Given the description of an element on the screen output the (x, y) to click on. 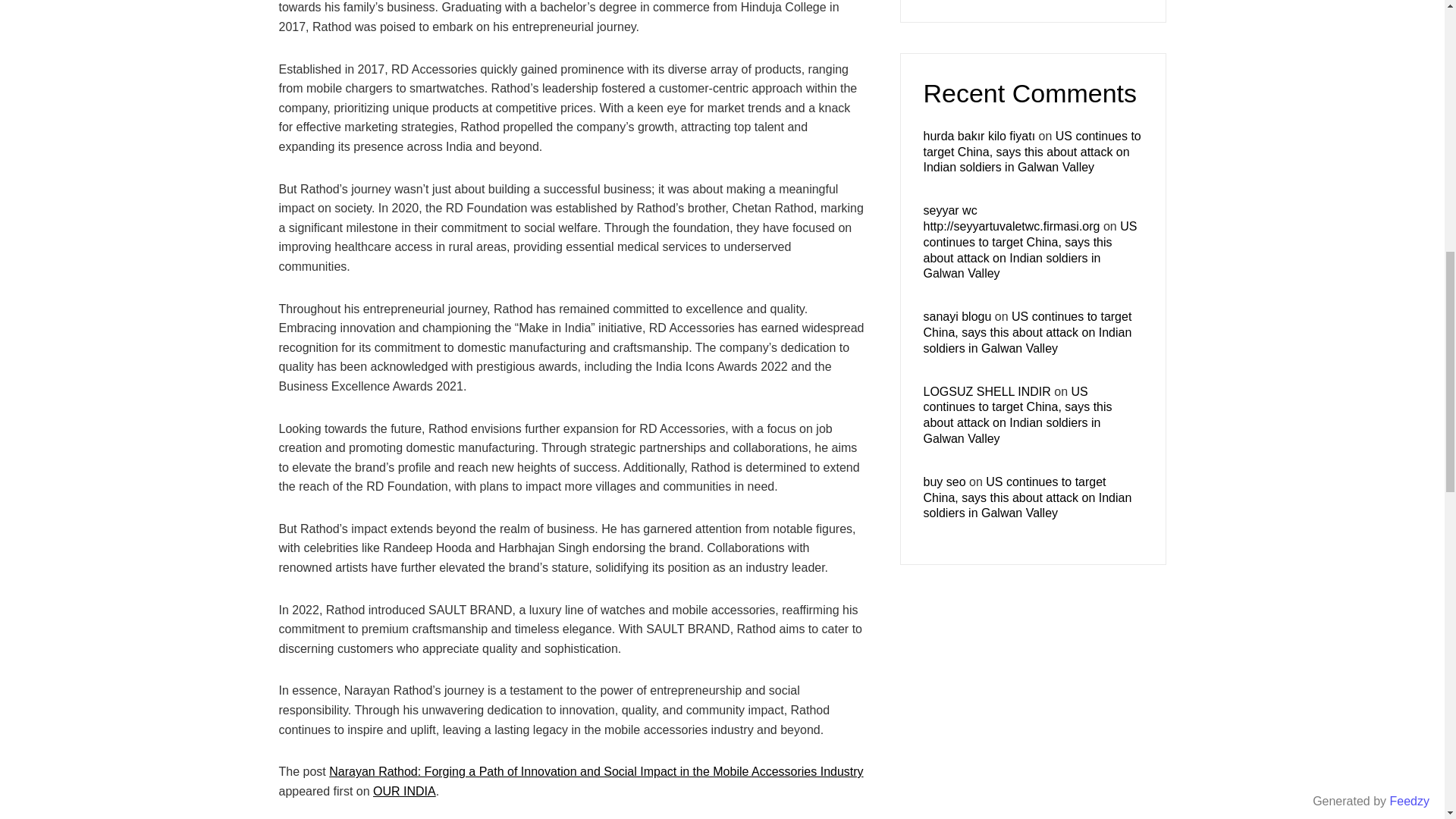
LOGSUZ SHELL INDIR (987, 391)
OUR INDIA (403, 790)
buy seo (944, 481)
sanayi blogu (957, 316)
